Given the description of an element on the screen output the (x, y) to click on. 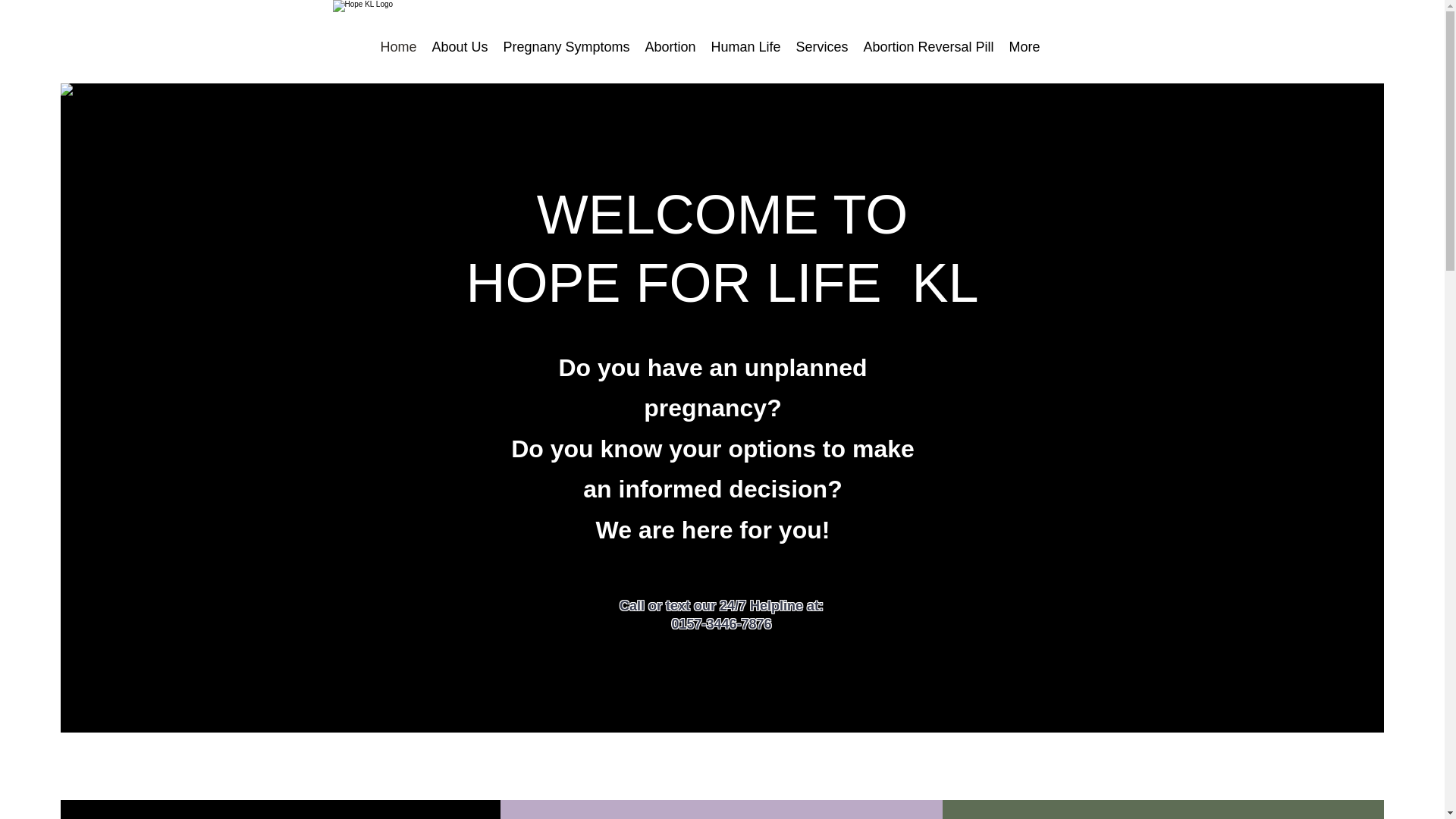
Pregnany Symptoms (566, 46)
About Us (460, 46)
Home (398, 46)
Services (822, 46)
Abortion Reversal Pill (928, 46)
Human Life (746, 46)
Abortion (670, 46)
